Given the description of an element on the screen output the (x, y) to click on. 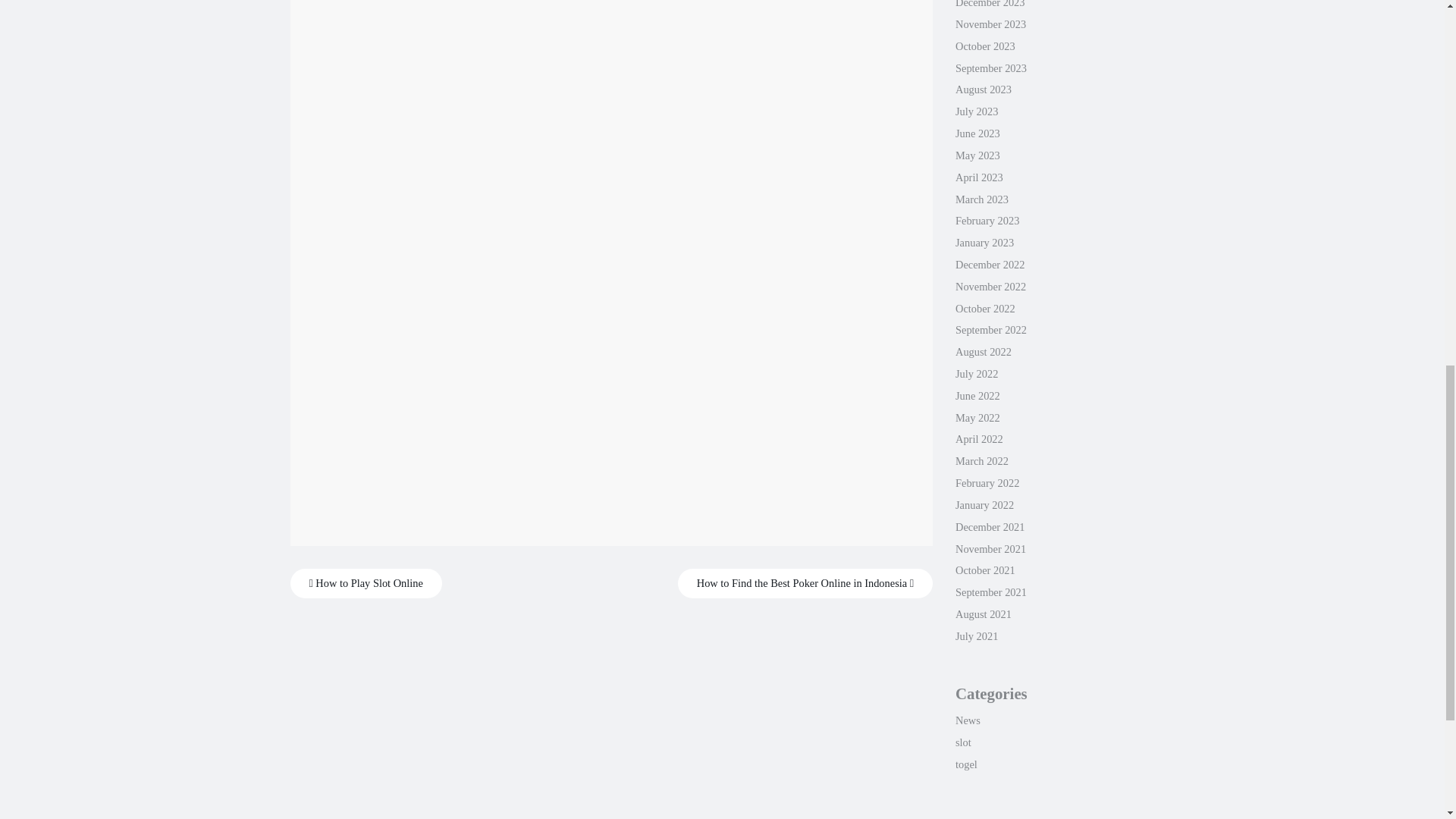
September 2023 (990, 68)
October 2022 (984, 308)
April 2023 (979, 177)
November 2023 (990, 24)
December 2022 (990, 264)
May 2023 (977, 155)
September 2022 (990, 329)
December 2023 (990, 4)
July 2023 (976, 111)
January 2023 (984, 242)
How to Find the Best Poker Online in Indonesia (805, 583)
February 2023 (987, 220)
August 2022 (983, 351)
October 2023 (984, 46)
November 2022 (990, 286)
